Given the description of an element on the screen output the (x, y) to click on. 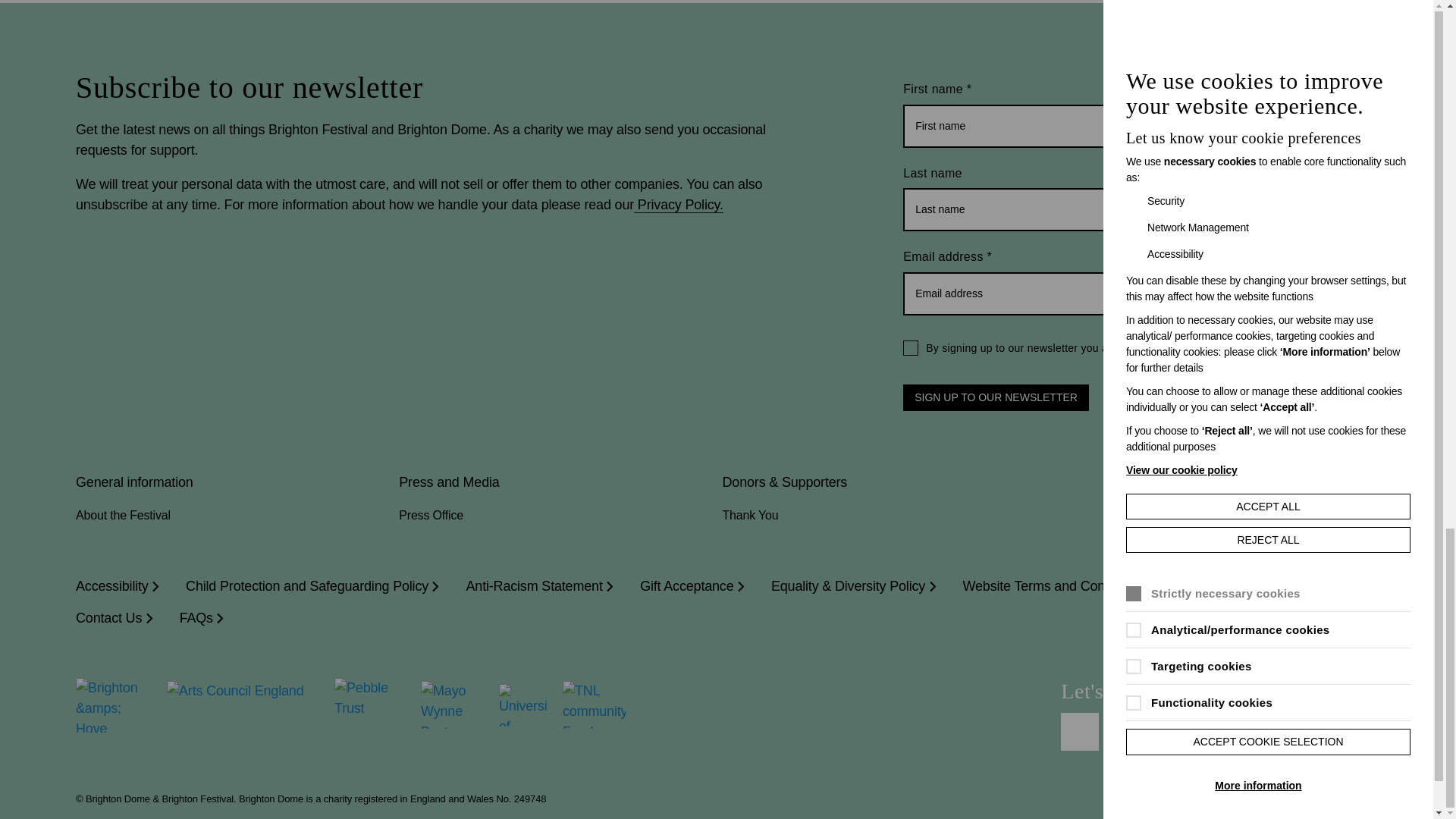
Facebook (1080, 731)
LinkedIn (1170, 731)
X (1215, 731)
Instagram (1125, 731)
